Given the description of an element on the screen output the (x, y) to click on. 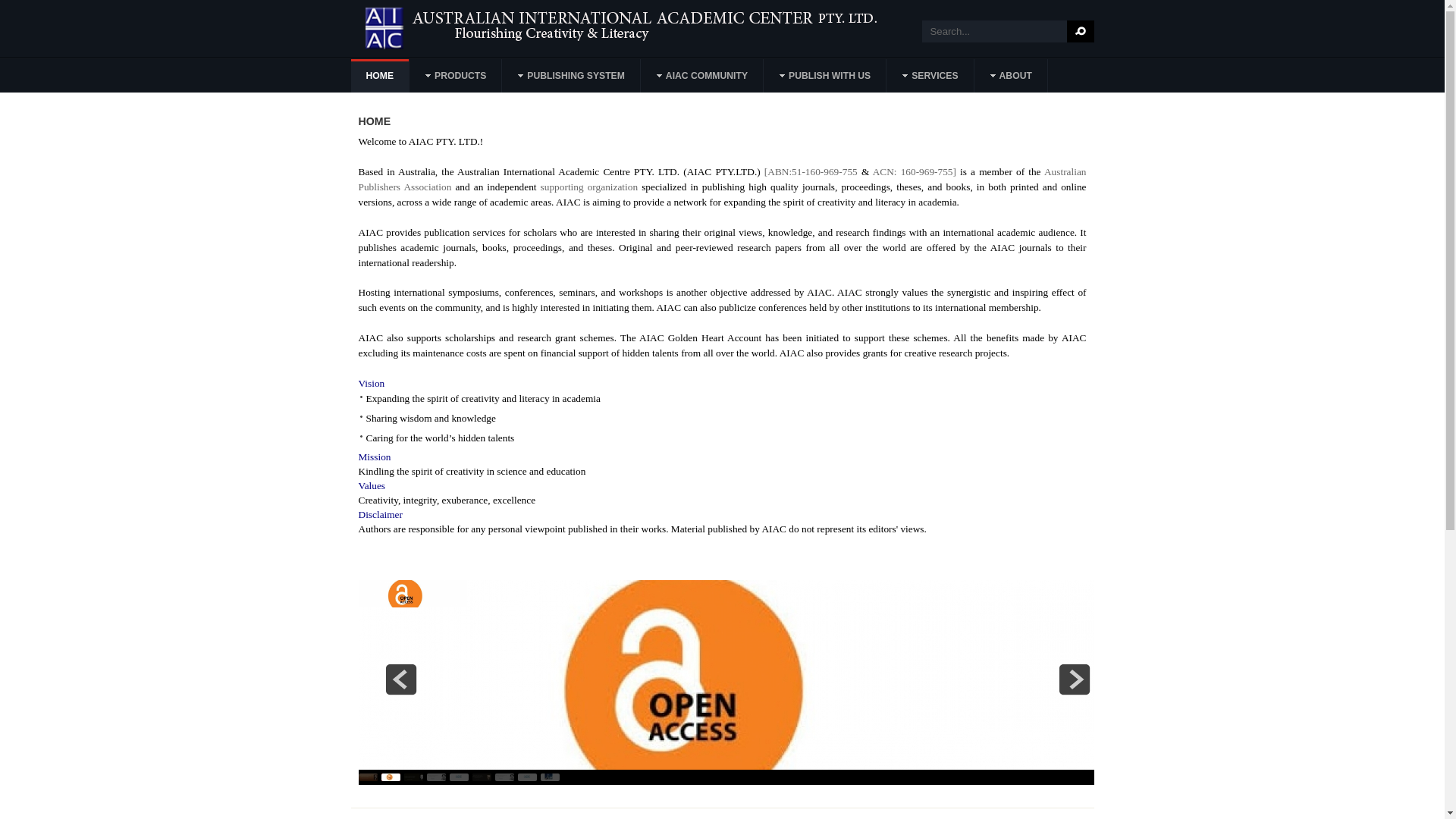
Search Element type: text (1079, 31)
organization Element type: text (612, 186)
HOME Element type: text (379, 75)
next Element type: text (1074, 679)
Welcome to AIAC PTY. LTD.! Element type: text (420, 141)
ABN:51-160-969-755 Element type: text (811, 171)
ABOUT Element type: text (1011, 75)
PUBLISHING SYSTEM Element type: text (571, 75)
] Element type: text (954, 171)
SERVICES Element type: text (930, 75)
AIAC COMMUNITY Element type: text (702, 75)
PRODUCTS Element type: text (456, 75)
Australian Publishers Association Element type: text (721, 179)
AIAC PTY. LTD. Element type: hover (668, 28)
ACN: 160-969-755 Element type: text (912, 171)
supporting  Element type: text (563, 186)
[ Element type: text (764, 171)
PUBLISH WITH US Element type: text (825, 75)
prev Element type: text (401, 679)
